Given the description of an element on the screen output the (x, y) to click on. 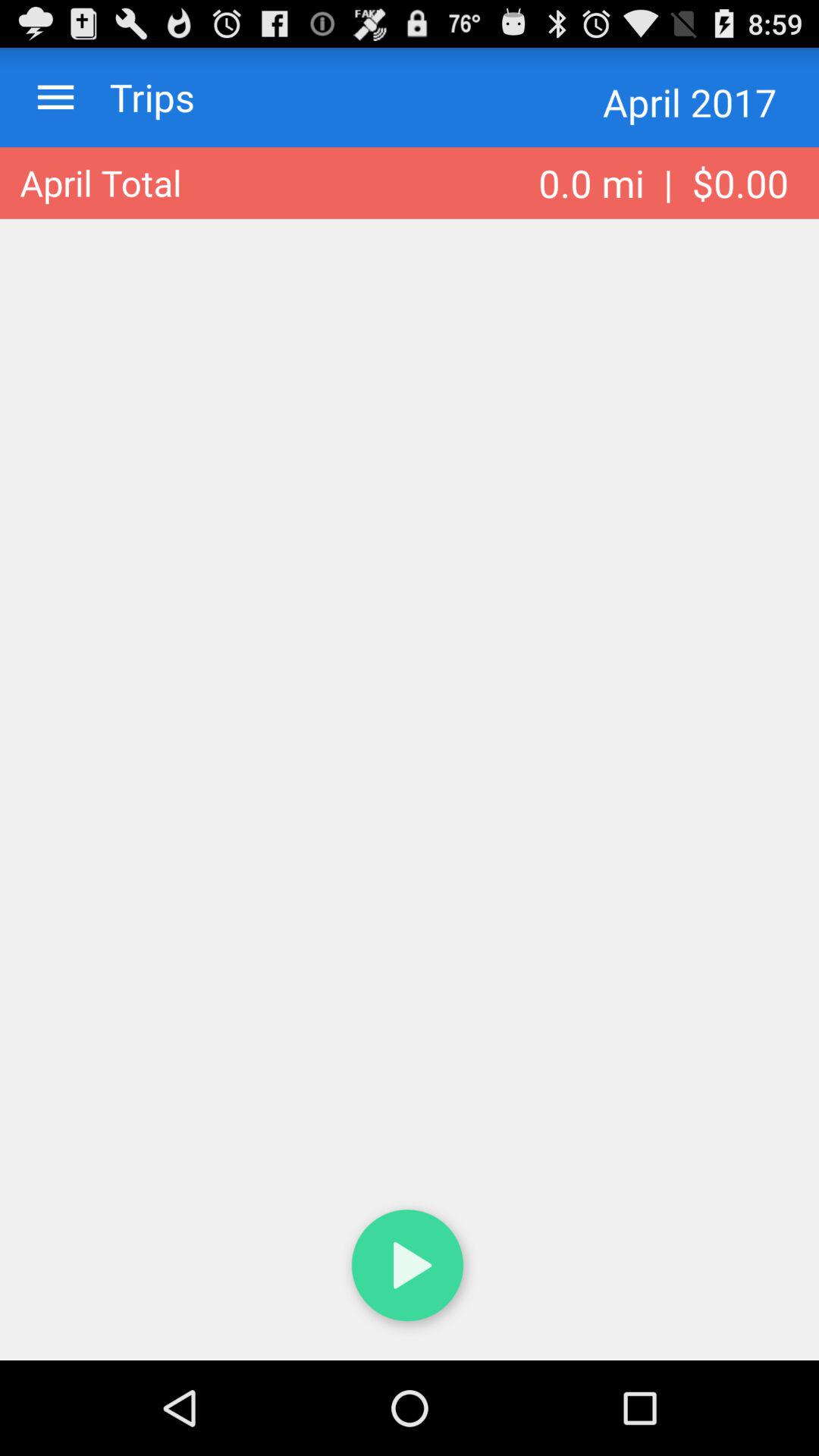
open april total app (100, 182)
